Given the description of an element on the screen output the (x, y) to click on. 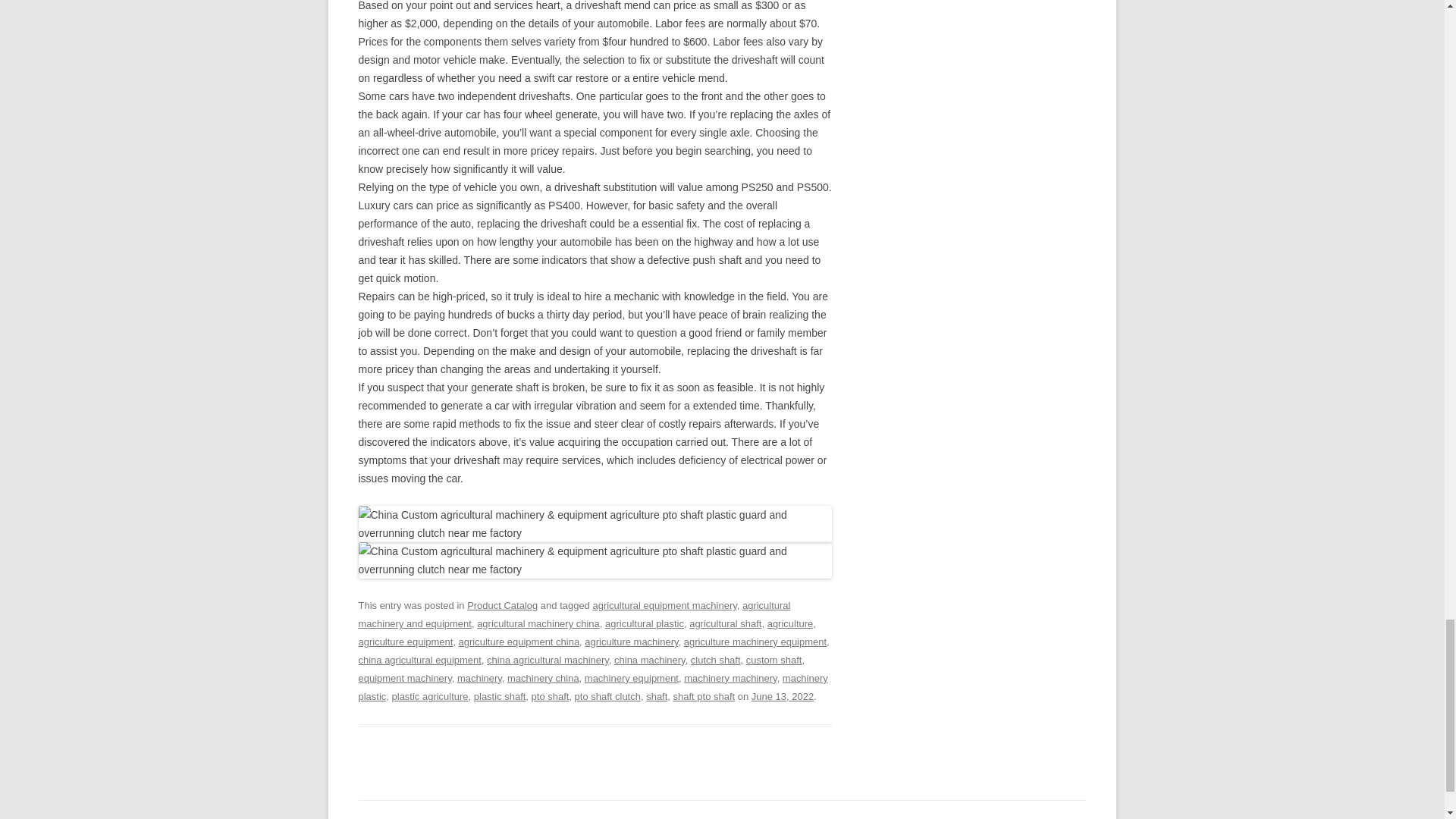
agriculture machinery equipment (755, 641)
agriculture equipment china (518, 641)
shaft pto shaft (703, 696)
machinery (479, 677)
agricultural machinery china (538, 623)
agriculture machinery (631, 641)
Product Catalog (502, 604)
agricultural shaft (724, 623)
agriculture (790, 623)
machinery china (542, 677)
